Given the description of an element on the screen output the (x, y) to click on. 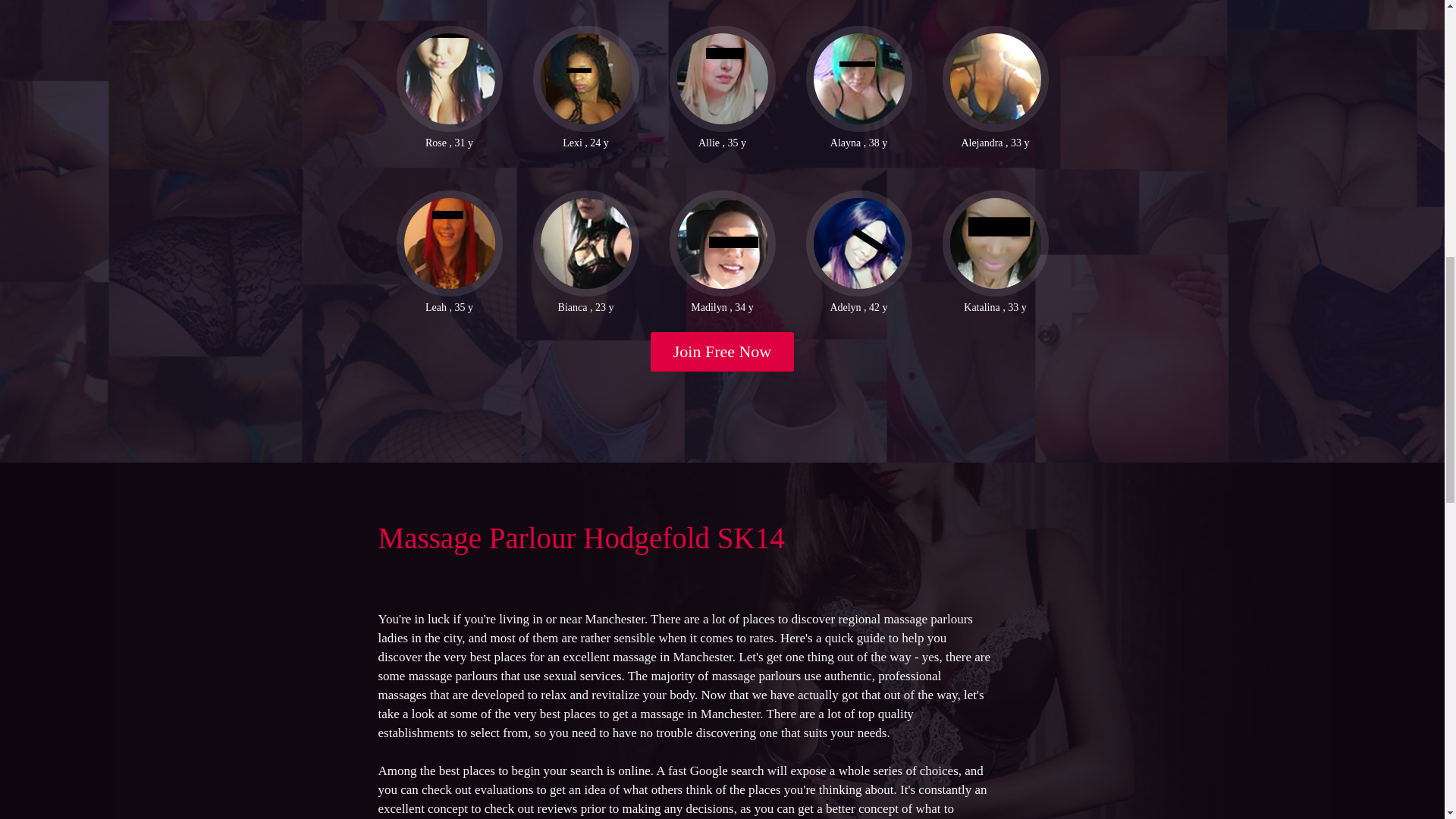
Join Free Now (722, 351)
Join (722, 351)
Massage Parlour Hodgefold SK14 (580, 537)
